Given the description of an element on the screen output the (x, y) to click on. 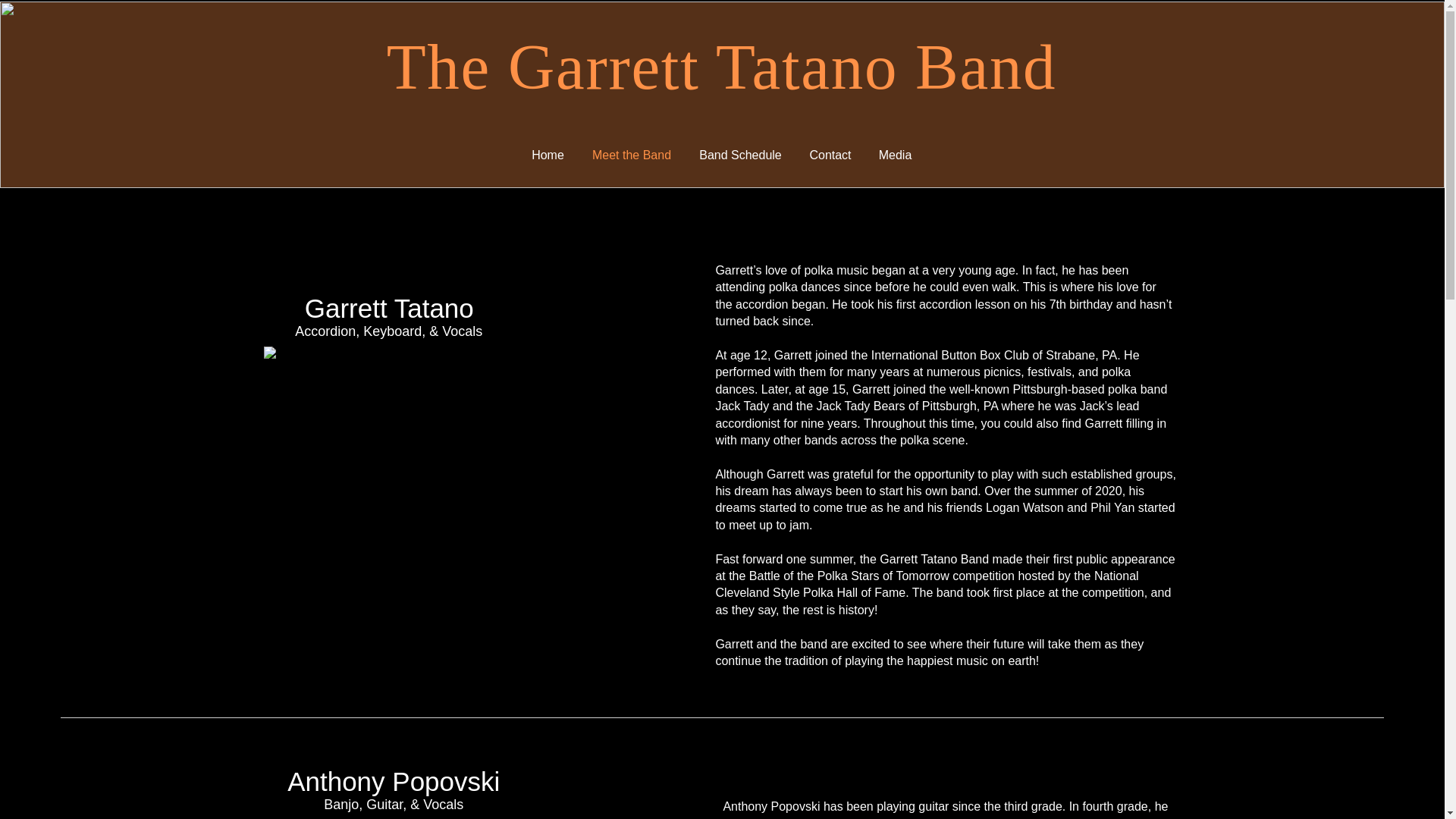
Band Schedule (740, 155)
Home (547, 155)
Media (894, 155)
Contact (830, 155)
The Garrett Tatano Band (722, 66)
Meet the Band (631, 155)
